Given the description of an element on the screen output the (x, y) to click on. 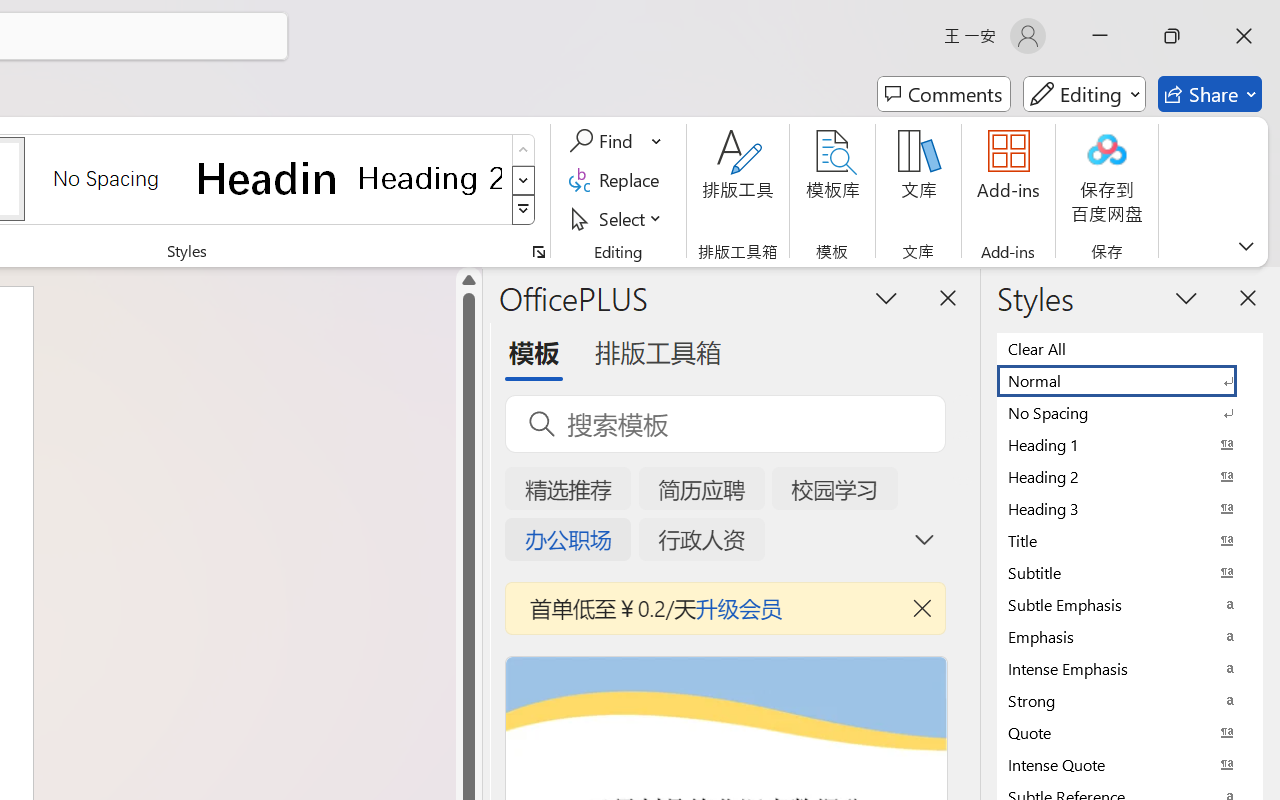
Title (1130, 540)
More Options (657, 141)
Share (1210, 94)
Intense Emphasis (1130, 668)
Styles (523, 209)
Ribbon Display Options (1246, 245)
Minimize (1099, 36)
Strong (1130, 700)
Normal (1130, 380)
No Spacing (1130, 412)
